Given the description of an element on the screen output the (x, y) to click on. 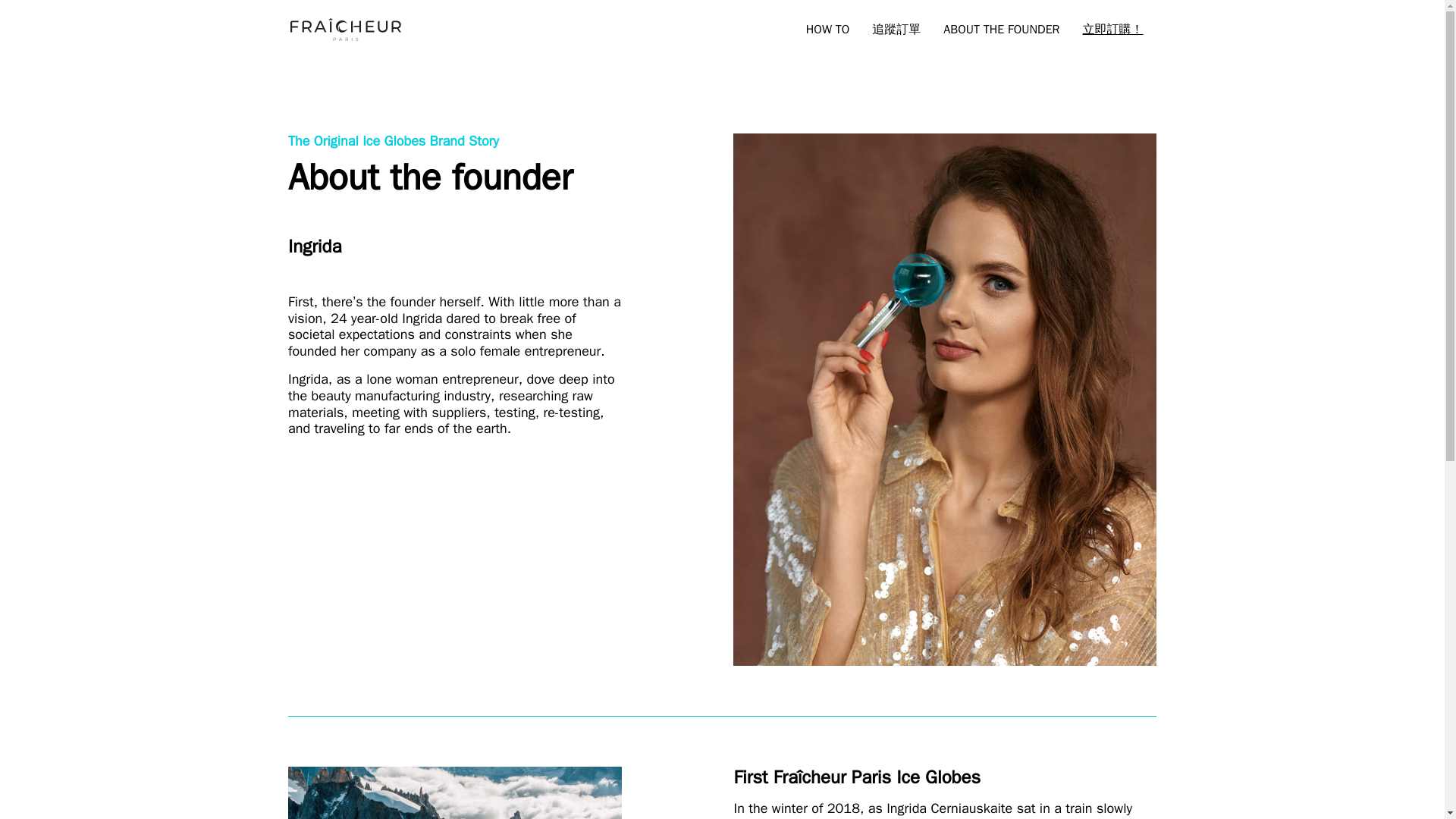
HOW TO (828, 29)
ABOUT THE FOUNDER (1001, 29)
